Given the description of an element on the screen output the (x, y) to click on. 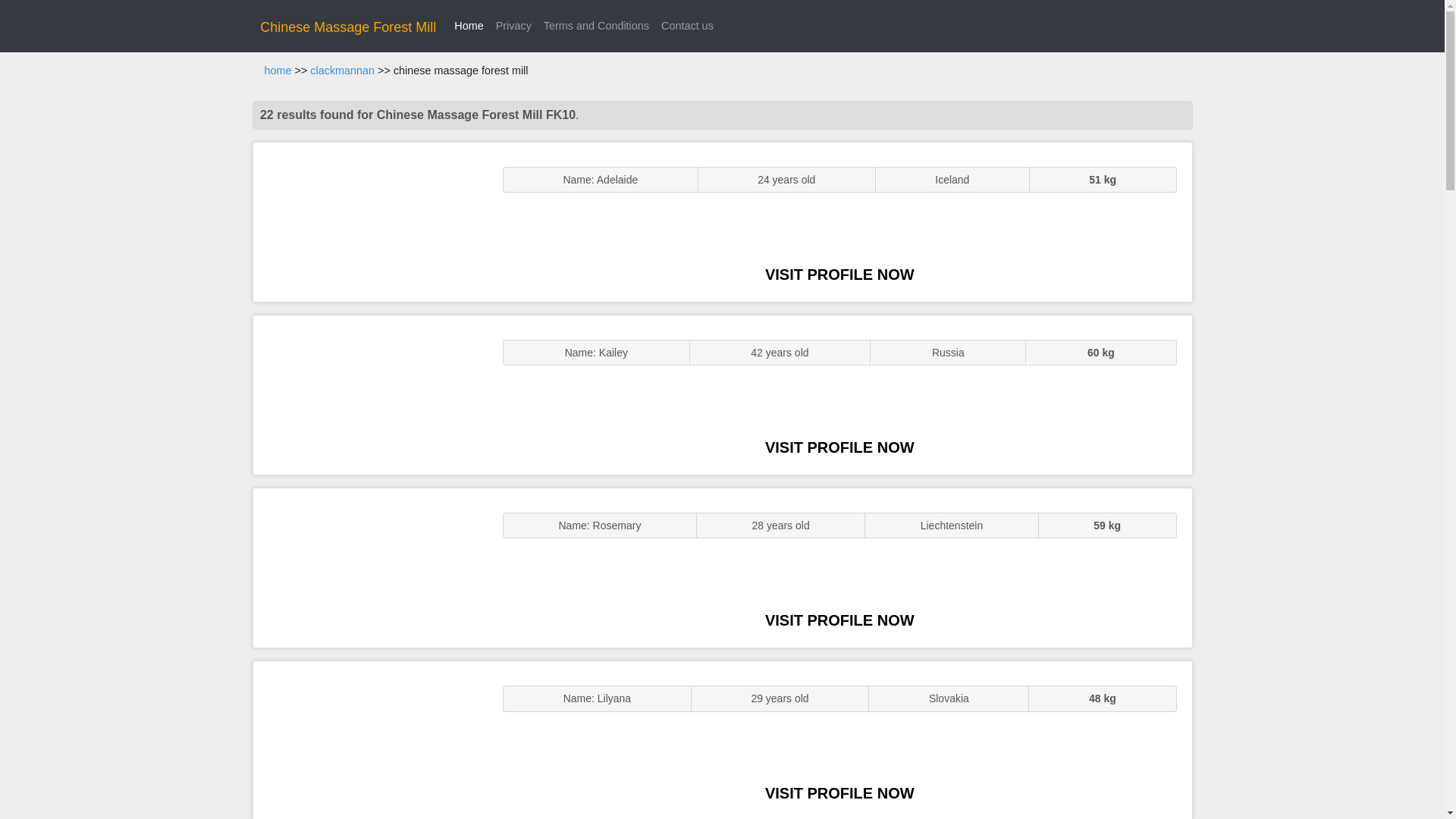
Chinese Massage Forest Mill (347, 27)
clackmannan (342, 70)
Terms and Conditions (596, 25)
VISIT PROFILE NOW (839, 619)
home (277, 70)
VISIT PROFILE NOW (839, 446)
Sexy (370, 567)
VISIT PROFILE NOW (839, 792)
Contact us (687, 25)
 ENGLISH STUNNER (370, 222)
Privacy (513, 25)
VISIT PROFILE NOW (839, 274)
GFE (370, 395)
Sluts (370, 739)
